Given the description of an element on the screen output the (x, y) to click on. 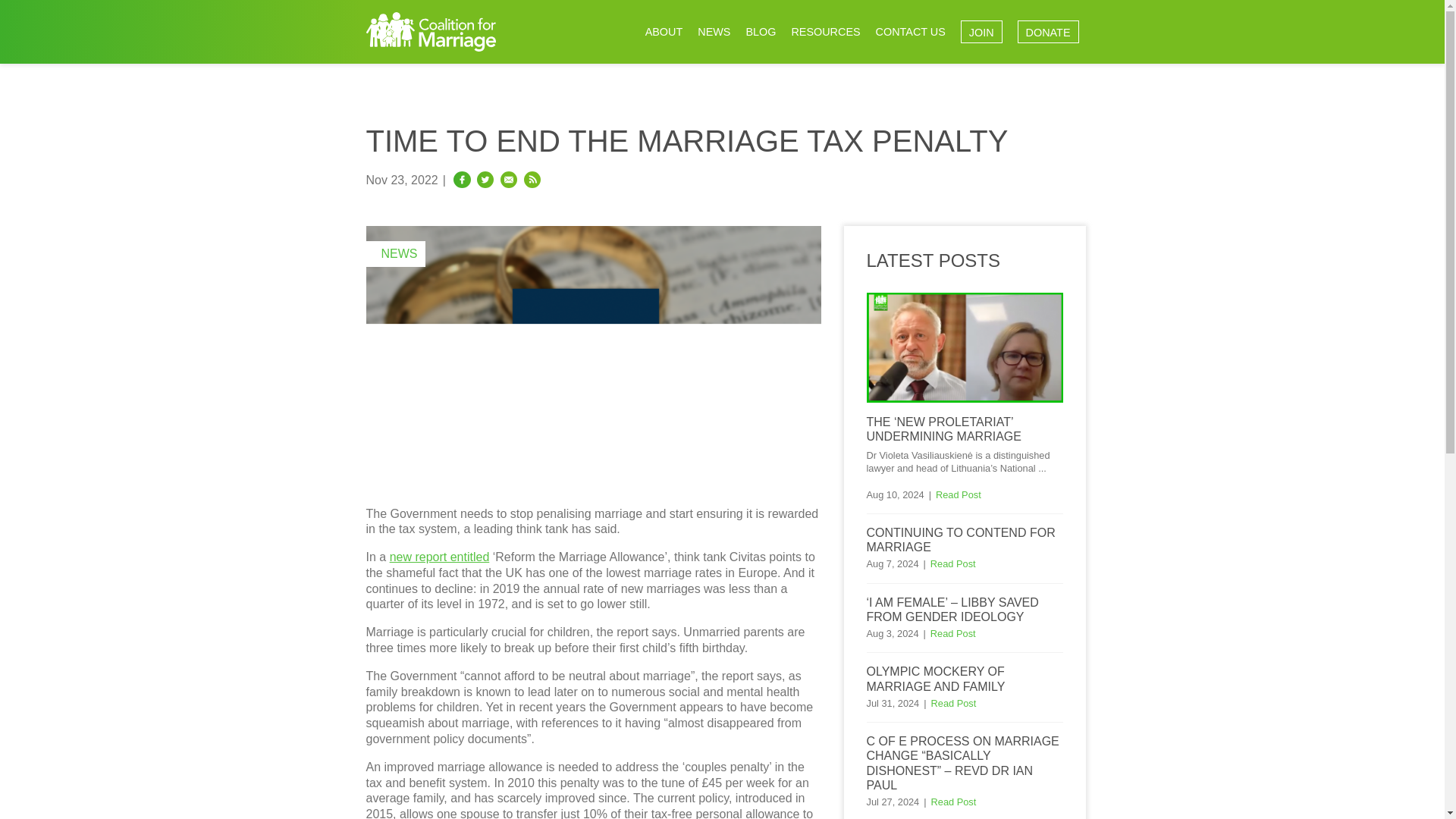
RESOURCES (825, 31)
new report entitled (439, 556)
CONTACT US (910, 31)
Read Post (952, 563)
Read Post (953, 801)
Share this on Facebook (461, 179)
DONATE (1047, 31)
Share this on Twitter (485, 179)
NEWS (714, 31)
ABOUT (663, 31)
